Given the description of an element on the screen output the (x, y) to click on. 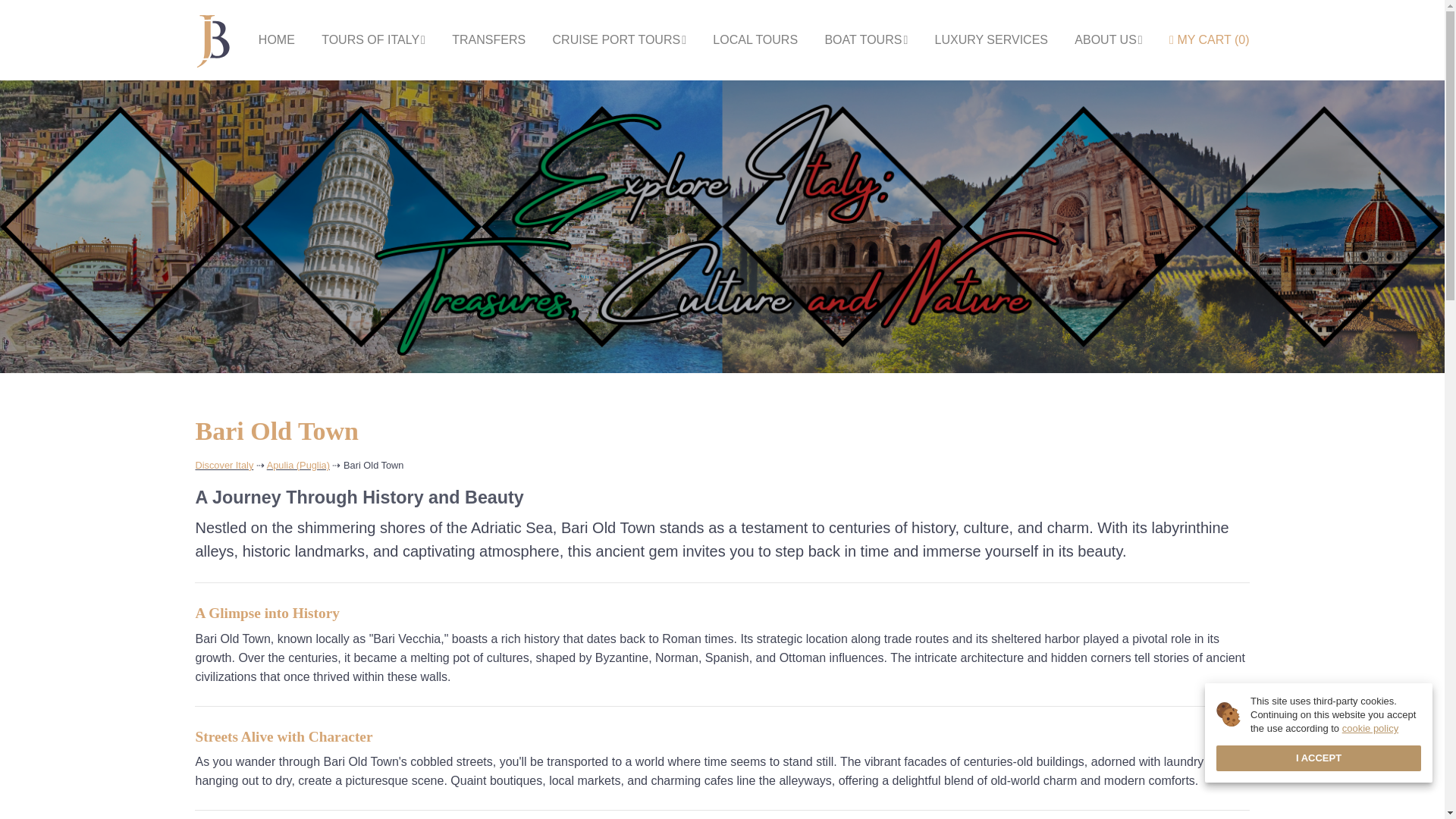
HOME (277, 39)
BOAT TOURS (865, 39)
TRANSFERS (488, 39)
LUXURY SERVICES (991, 39)
LOCAL TOURS (755, 39)
TOURS OF ITALY (373, 39)
Discover Italy (224, 464)
CRUISE PORT TOURS (619, 39)
ABOUT US (1107, 39)
Opens a widget where you can chat to one of our agents (1340, 732)
